Given the description of an element on the screen output the (x, y) to click on. 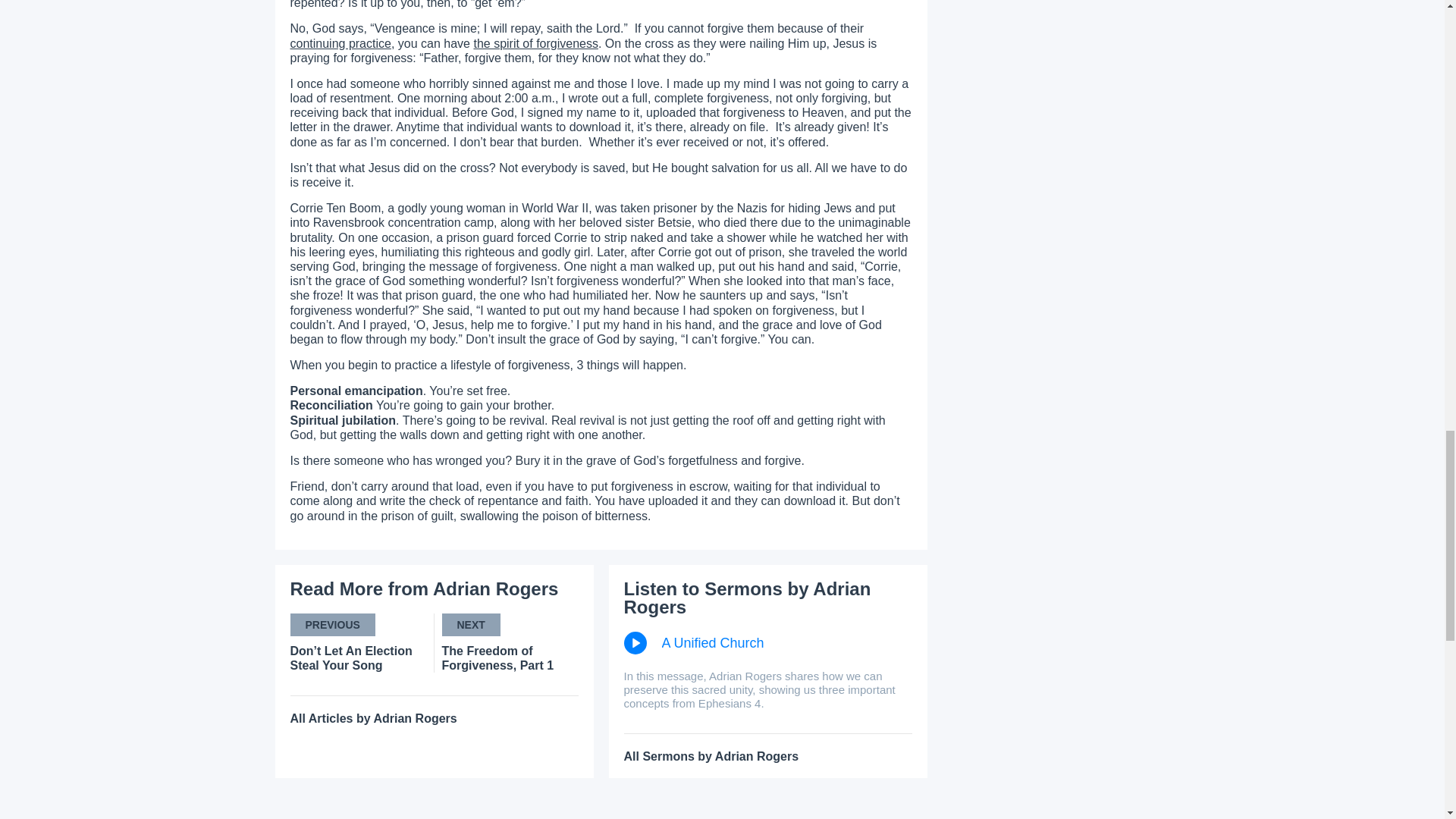
The Freedom of Forgiveness, Part 1 (509, 657)
A Unified Church (767, 642)
PREVIOUS (331, 624)
NEXT (470, 624)
All Articles by Adrian Rogers (373, 717)
All Sermons by Adrian Rogers (710, 756)
